Given the description of an element on the screen output the (x, y) to click on. 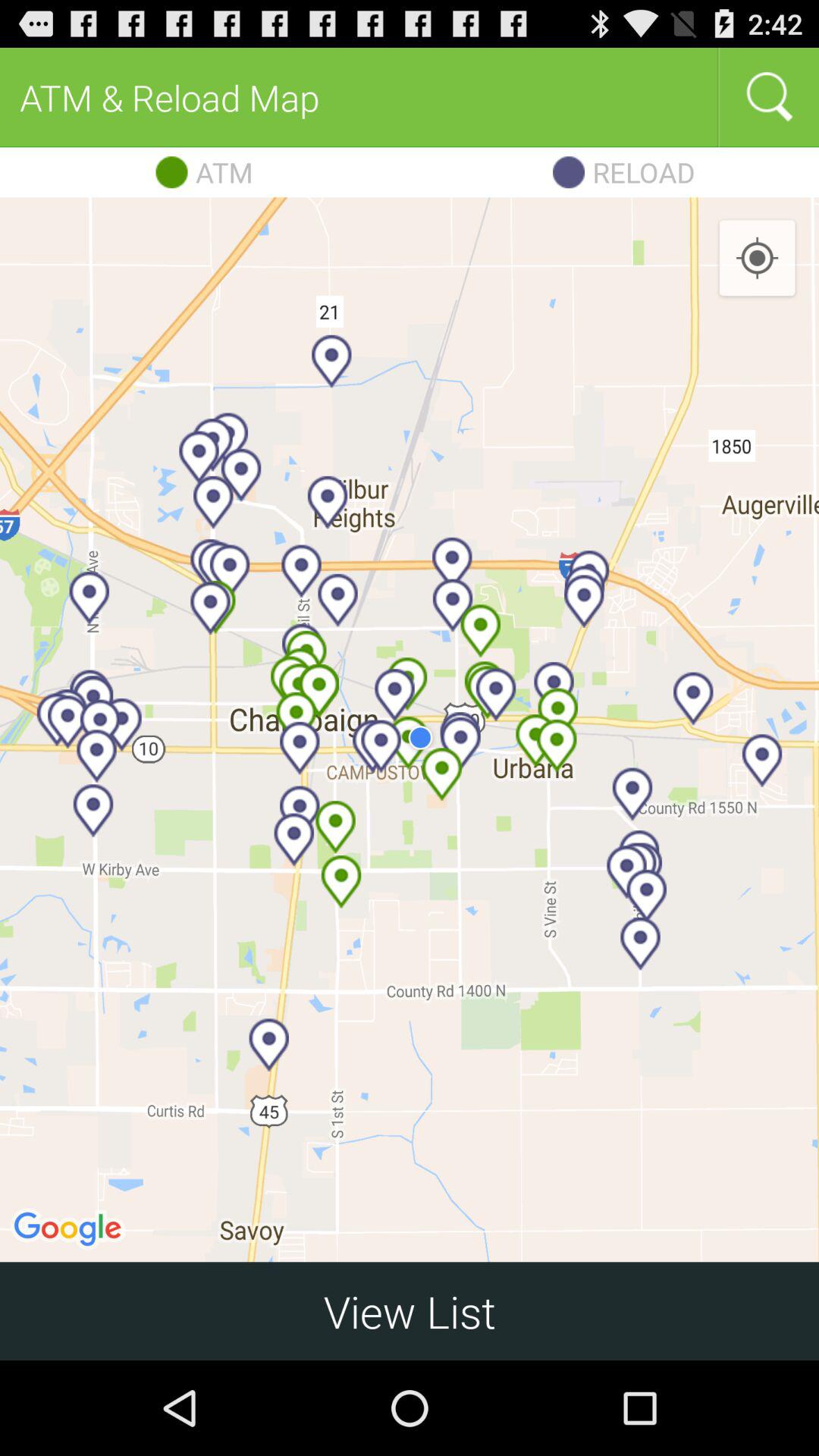
tap view list icon (409, 1311)
